Given the description of an element on the screen output the (x, y) to click on. 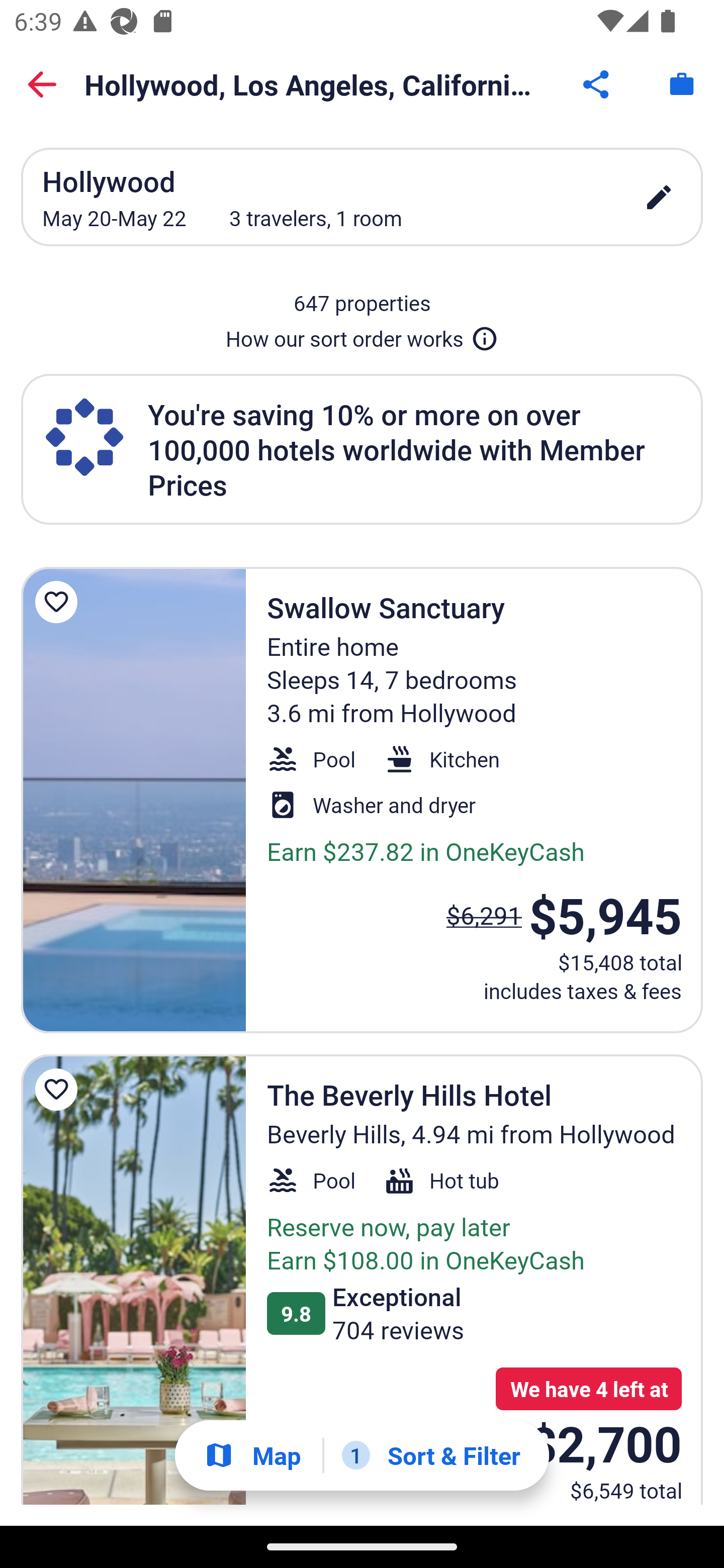
Back (42, 84)
Share Button (597, 84)
Trips. Button (681, 84)
Hollywood May 20-May 22 3 travelers, 1 room edit (361, 196)
How our sort order works (361, 334)
Save Swallow Sanctuary to a trip (59, 601)
Swallow Sanctuary (133, 800)
$6,291 The price was $6,291 (483, 915)
Save The Beverly Hills Hotel to a trip (59, 1089)
The Beverly Hills Hotel (133, 1279)
1 Sort & Filter 1 Filter applied. Filters Button (430, 1455)
Show map Map Show map Button (252, 1455)
